Given the description of an element on the screen output the (x, y) to click on. 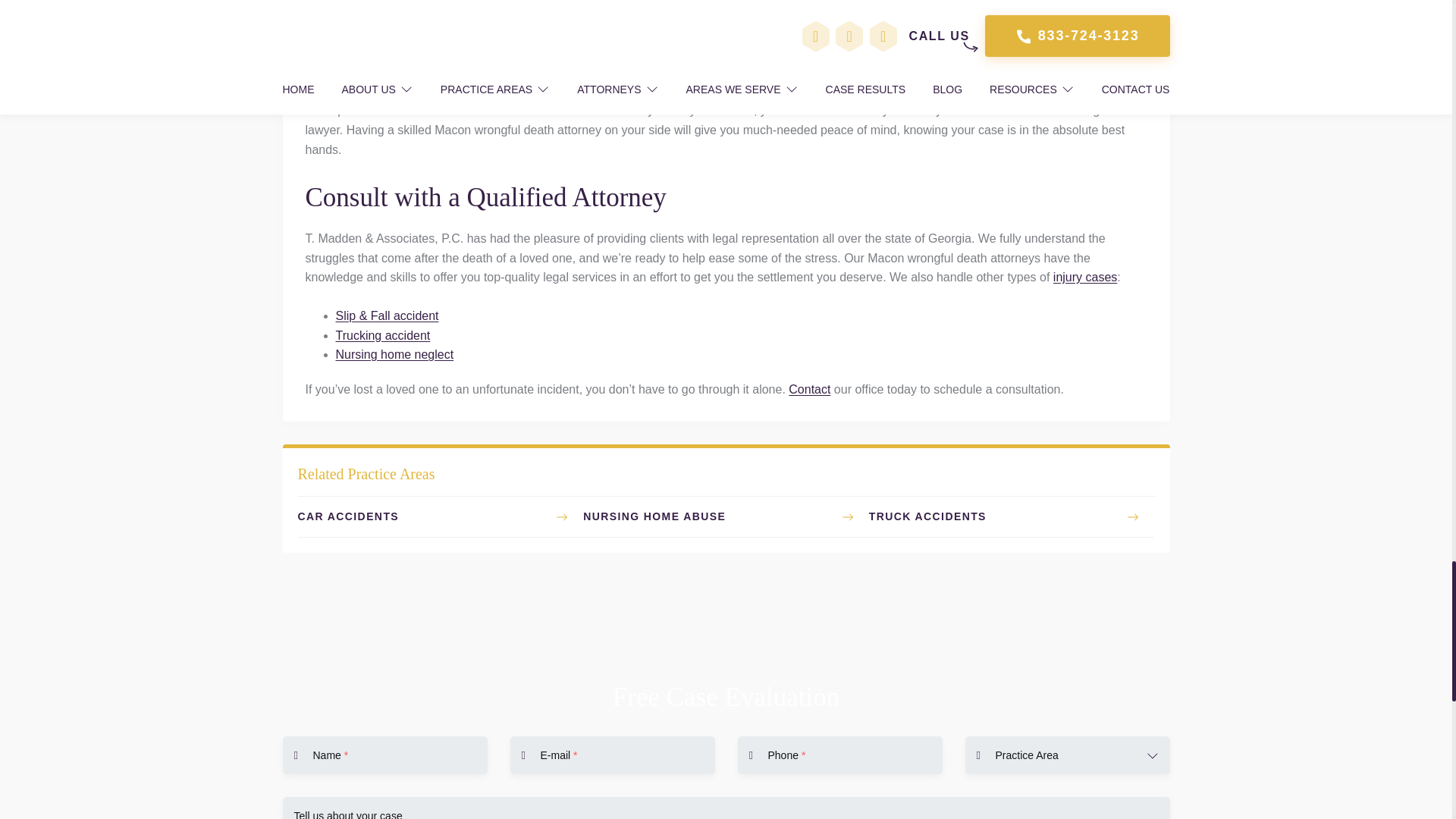
Click to View Macon Truck Accident Lawyers (1011, 515)
Click to View Macon Nursing Home Abuse Lawyers (726, 515)
Click to View Macon Car Accident Lawyers (440, 515)
